Given the description of an element on the screen output the (x, y) to click on. 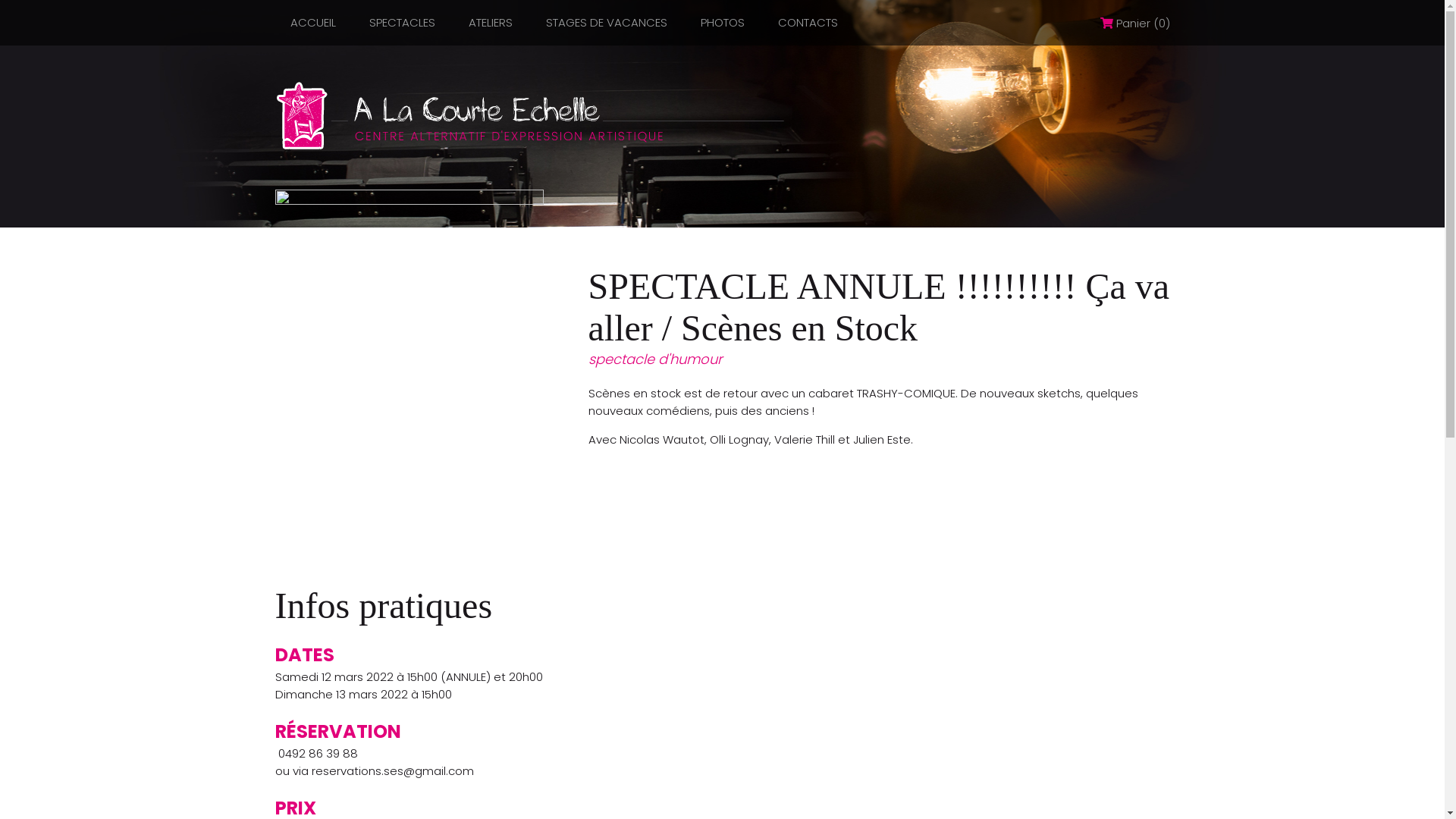
ACCUEIL Element type: text (312, 22)
SPECTACLES Element type: text (401, 22)
Panier (0) Element type: text (1134, 23)
ATELIERS Element type: text (490, 22)
CONTACTS Element type: text (807, 22)
STAGES DE VACANCES Element type: text (606, 22)
PHOTOS Element type: text (722, 22)
